Given the description of an element on the screen output the (x, y) to click on. 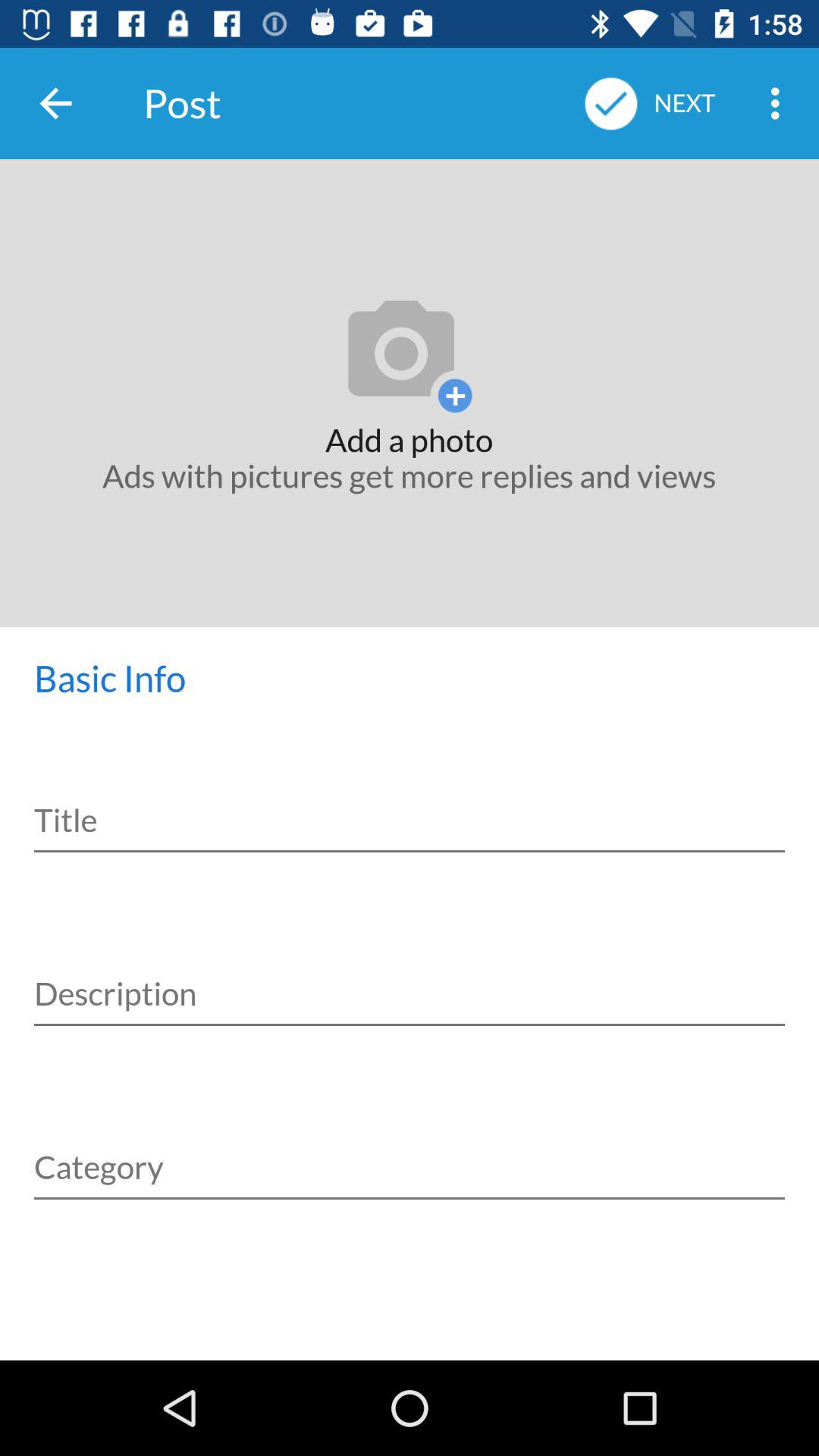
enter description (409, 976)
